Given the description of an element on the screen output the (x, y) to click on. 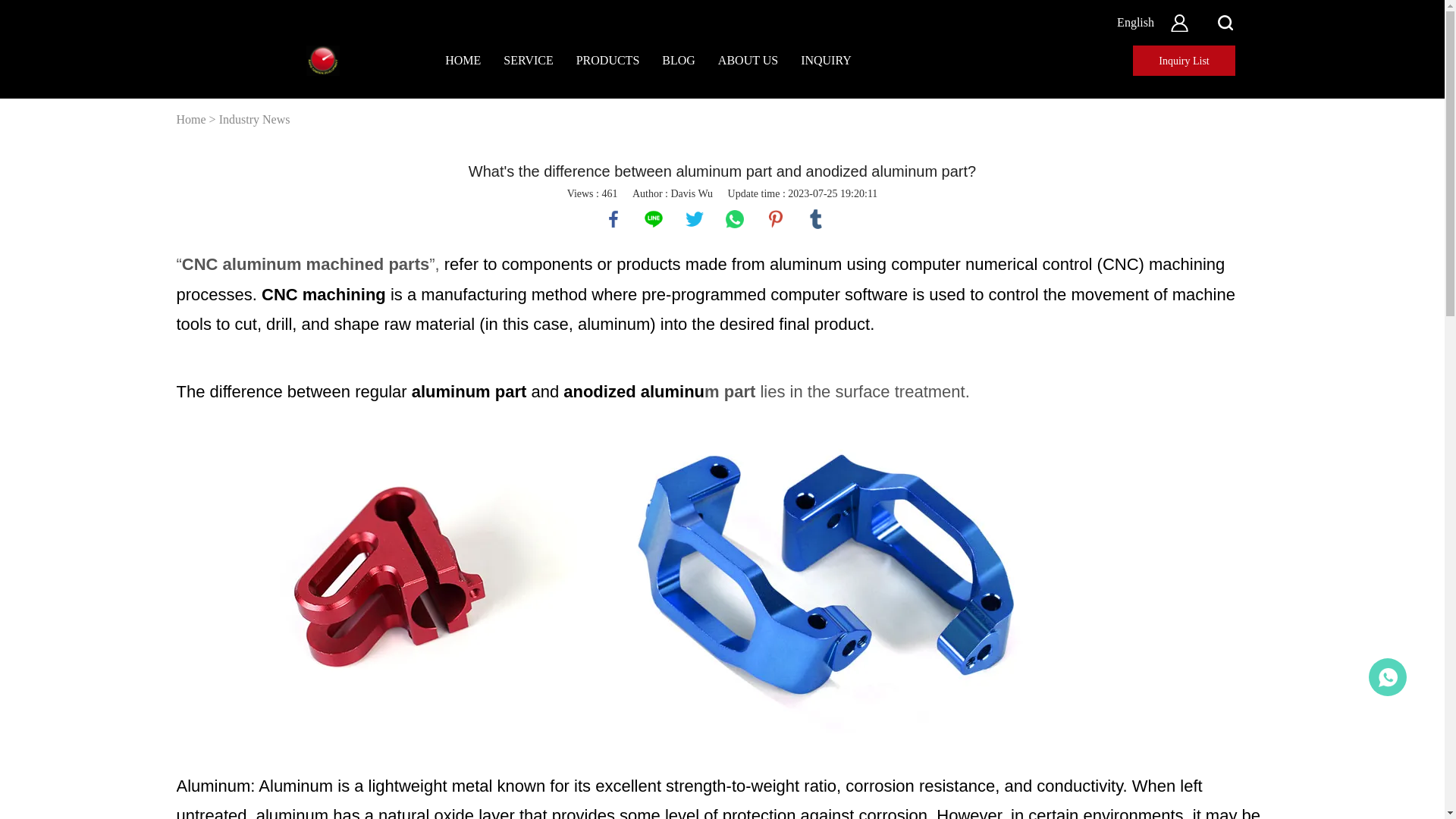
Products (608, 60)
Service (528, 60)
Home (462, 60)
